Given the description of an element on the screen output the (x, y) to click on. 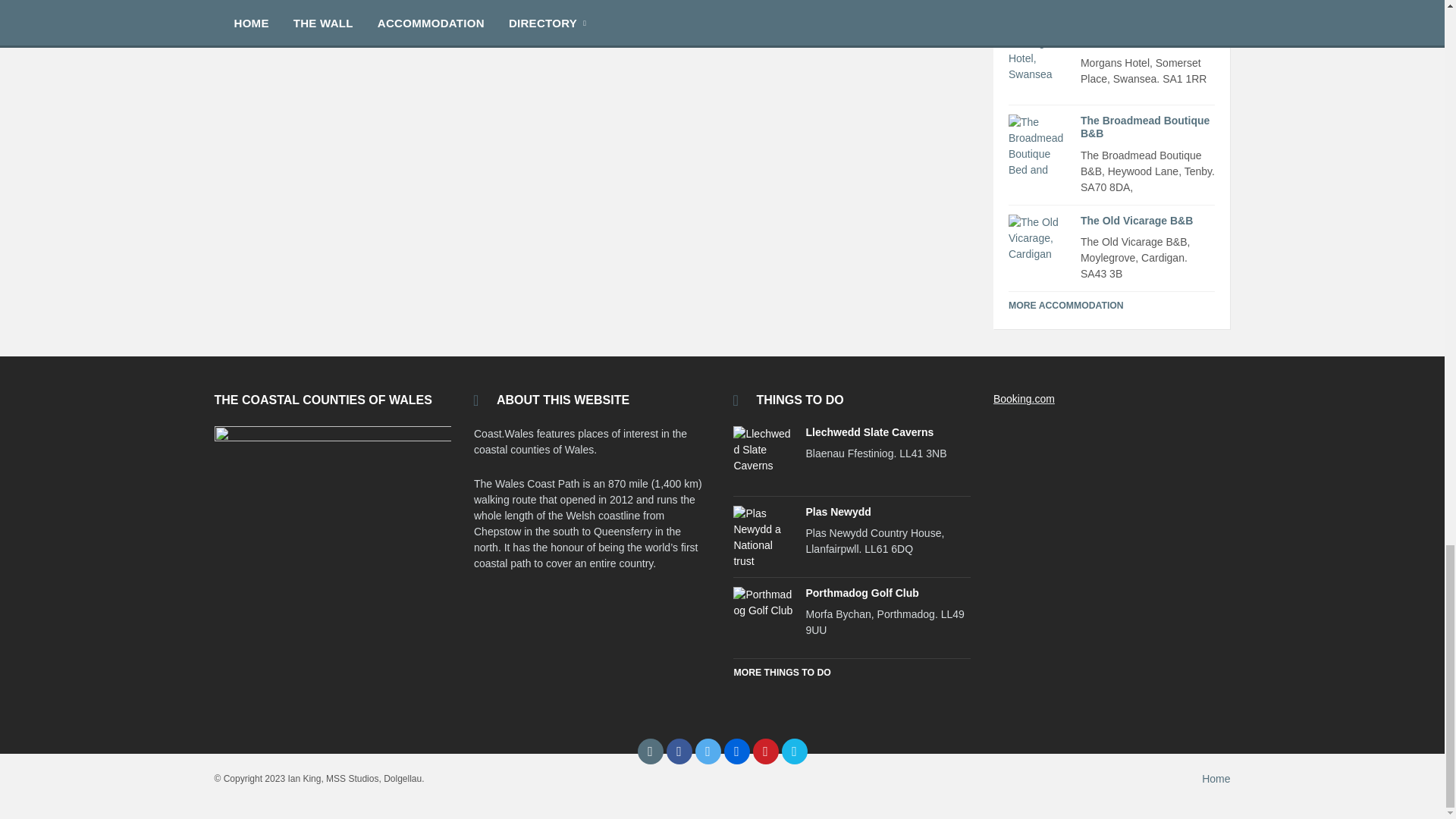
Castles (268, 0)
